Given the description of an element on the screen output the (x, y) to click on. 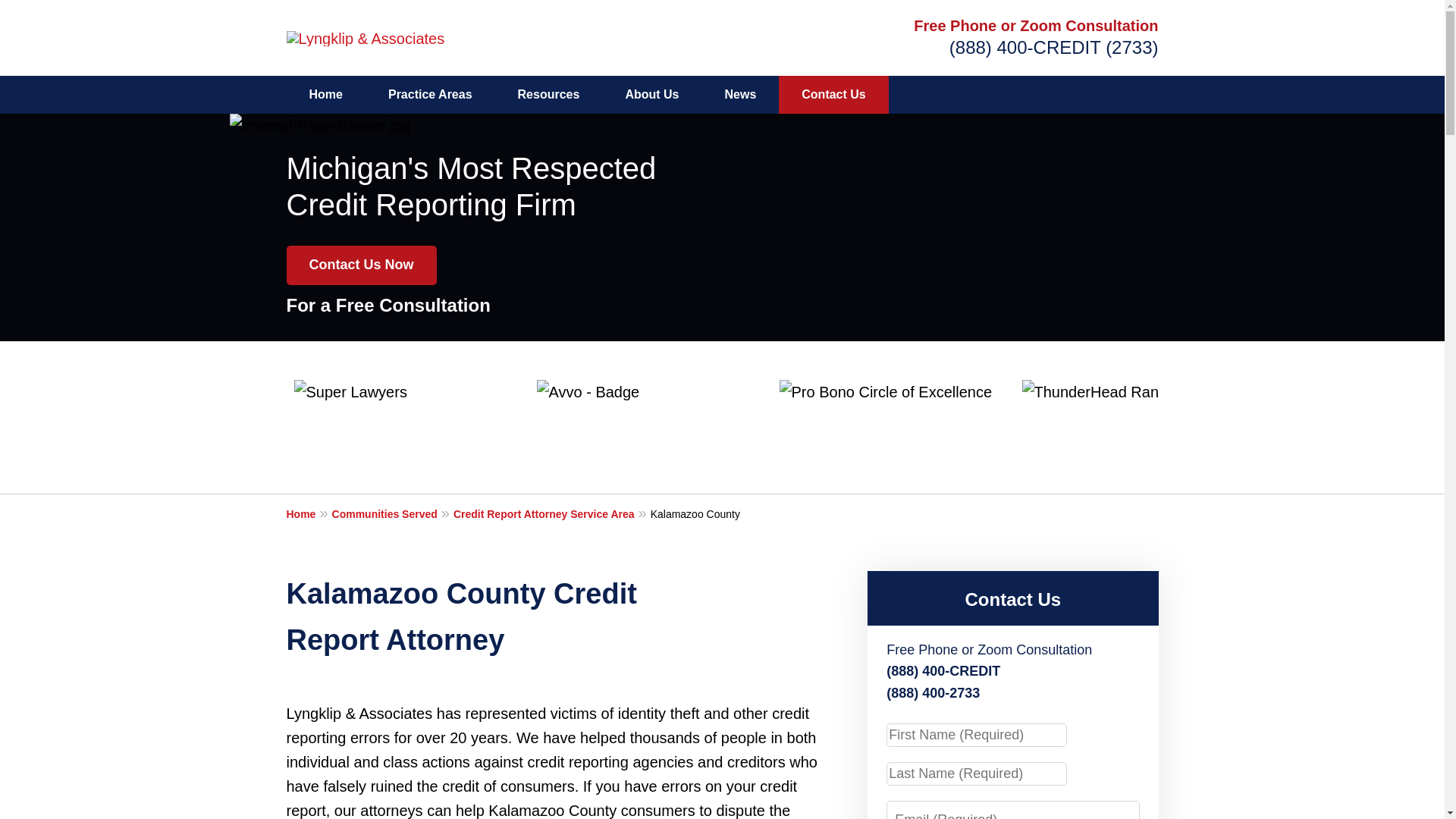
Home (325, 94)
Free Phone or Zoom Consultation (1035, 25)
Credit Report Attorney Service Area (551, 513)
Practice Areas (430, 94)
About Us (651, 94)
Home (308, 513)
News (739, 94)
Resources (548, 94)
Contact Us Now (361, 265)
Contact Us (833, 94)
Communities Served (391, 513)
